Given the description of an element on the screen output the (x, y) to click on. 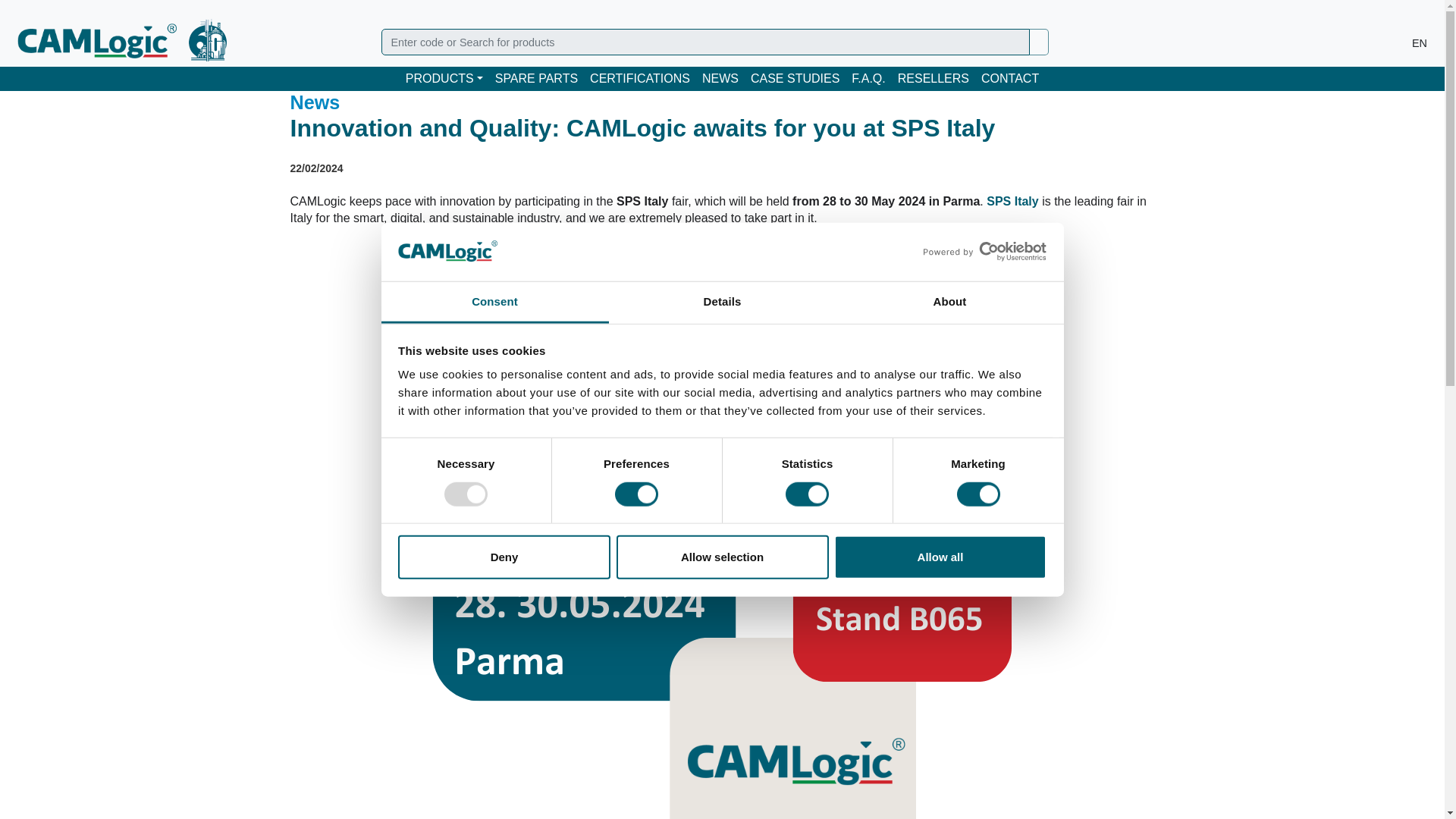
Allow all (940, 557)
Deny (503, 557)
Details (721, 302)
1964 - 2024 60 years of quality and reliability (208, 39)
About (948, 302)
Allow selection (721, 557)
Consent (494, 302)
